Given the description of an element on the screen output the (x, y) to click on. 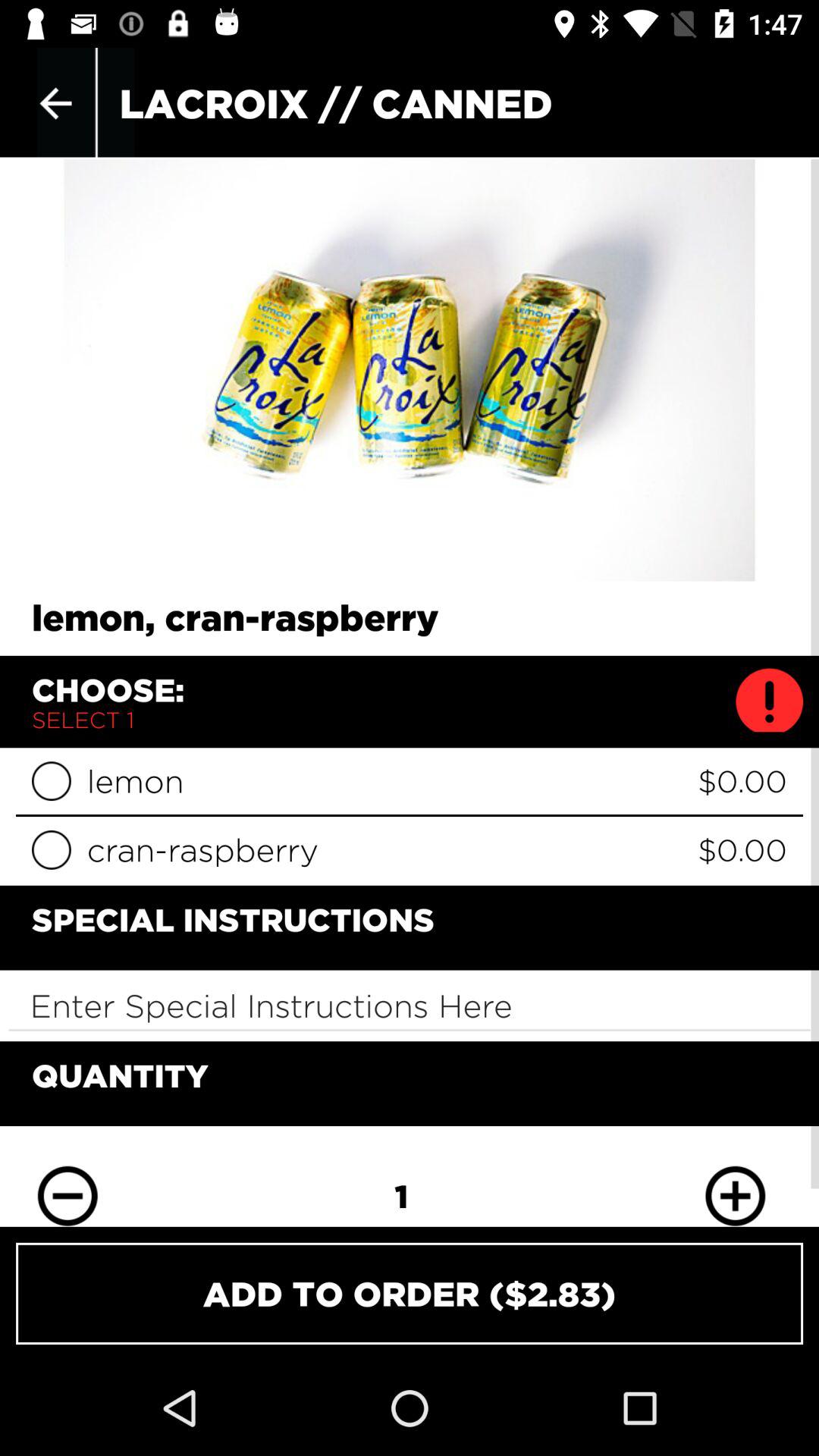
turn off the icon next to lacroix // canned (55, 103)
